Given the description of an element on the screen output the (x, y) to click on. 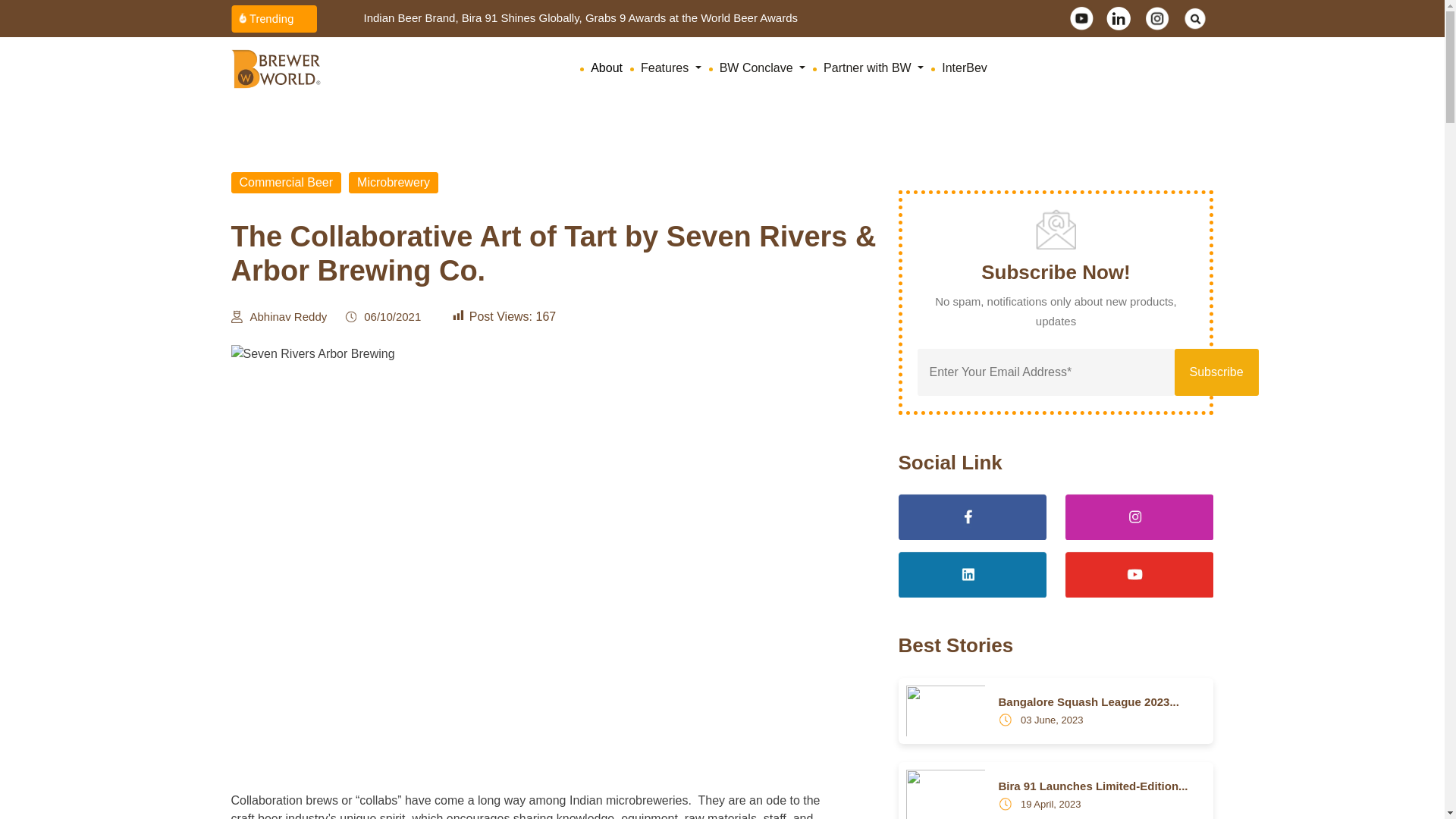
Features (673, 68)
Subscribe (1215, 371)
About (609, 68)
